Given the description of an element on the screen output the (x, y) to click on. 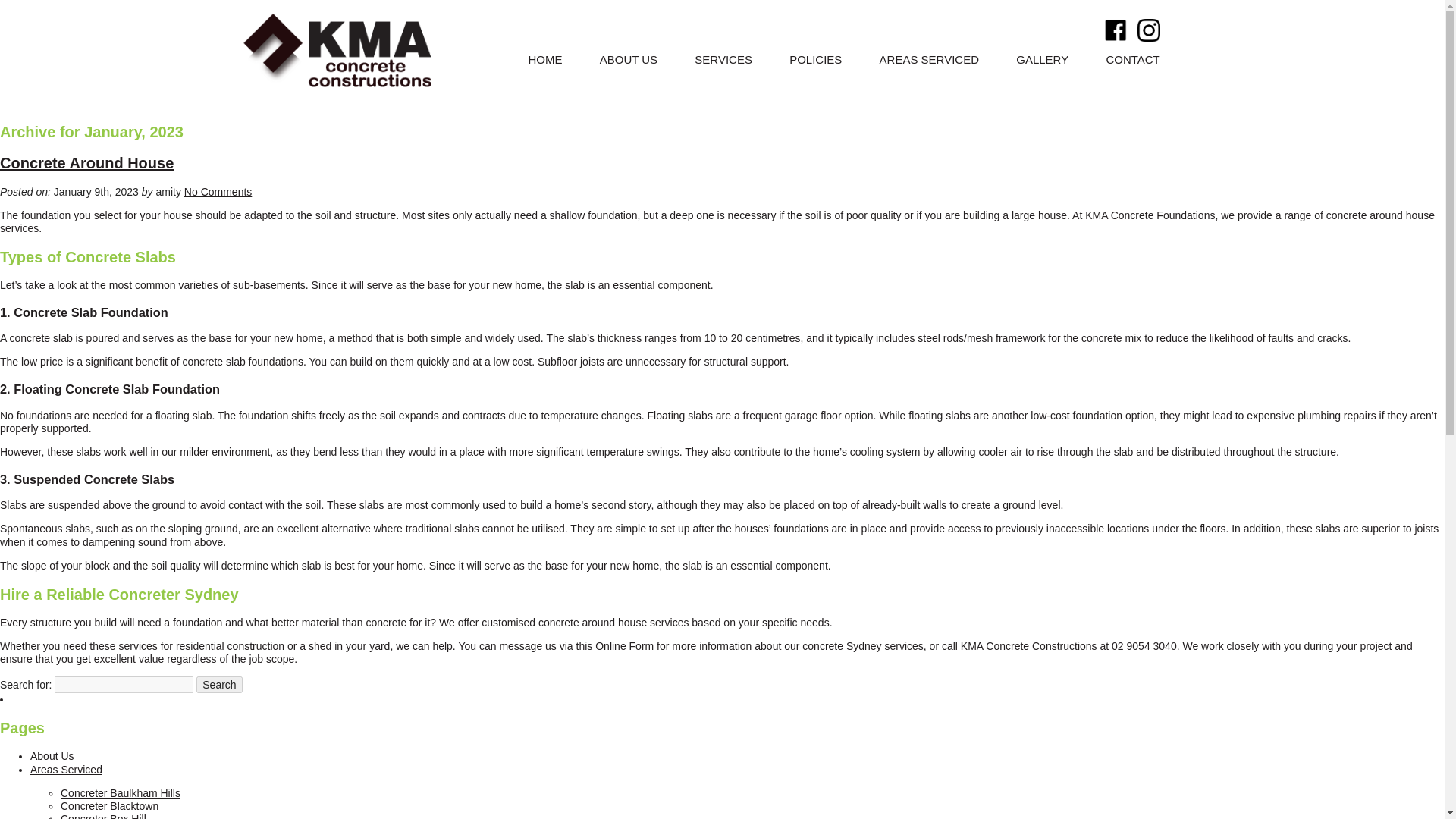
Concreter Box Hill (104, 816)
CONTACT (1131, 59)
Search (218, 684)
No Comments (217, 191)
GALLERY (1042, 59)
Concreter Blacktown (109, 806)
SERVICES (723, 59)
About Us (52, 756)
Concrete Around House (86, 162)
HOME (544, 59)
POLICIES (815, 59)
AREAS SERVICED (928, 59)
ABOUT US (628, 59)
Search (218, 684)
Areas Serviced (65, 769)
